Given the description of an element on the screen output the (x, y) to click on. 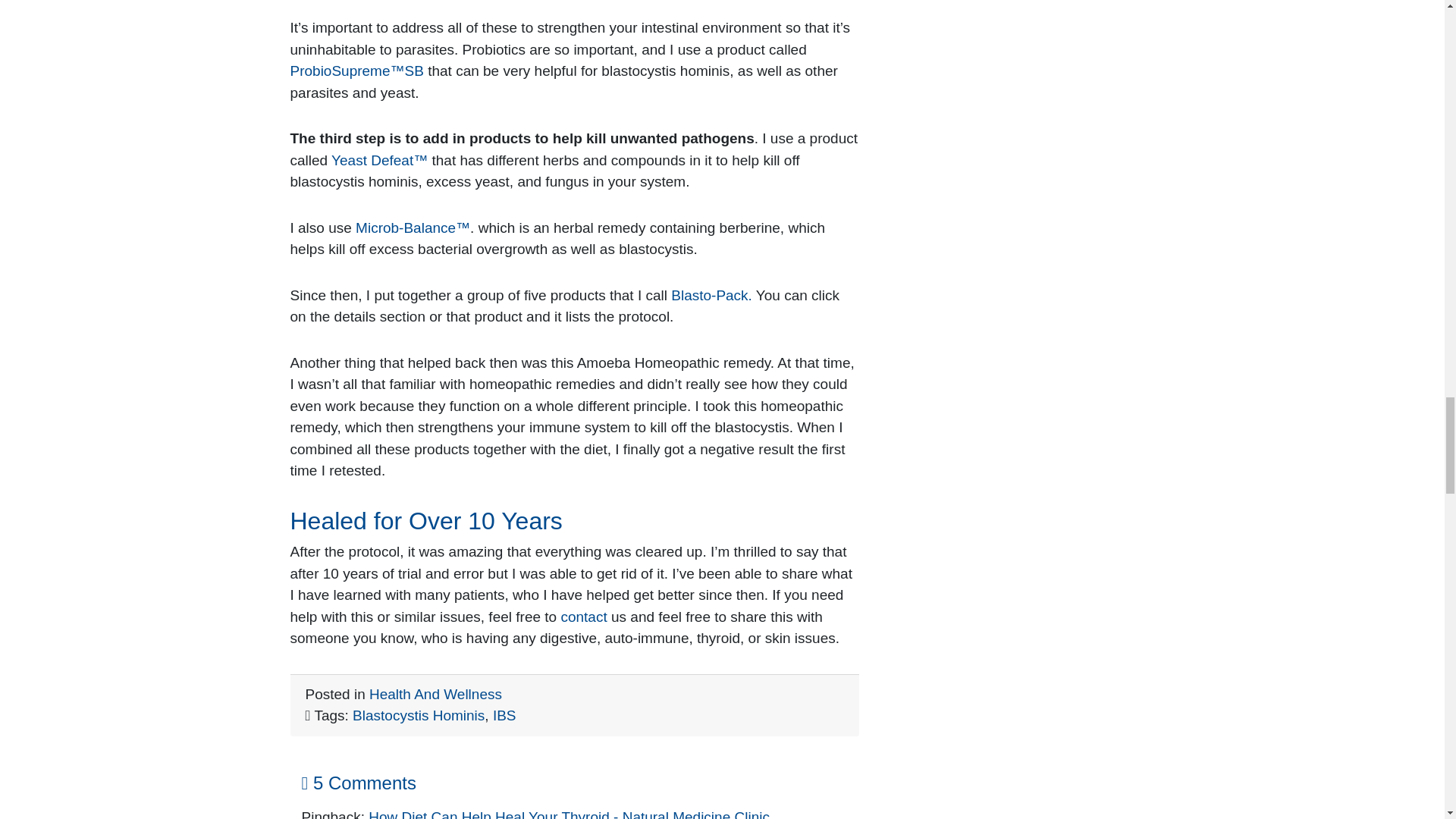
contact (583, 616)
IBS (504, 715)
Blastocystis Hominis (418, 715)
Health And Wellness (435, 693)
Blasto-Pack. (713, 295)
